Given the description of an element on the screen output the (x, y) to click on. 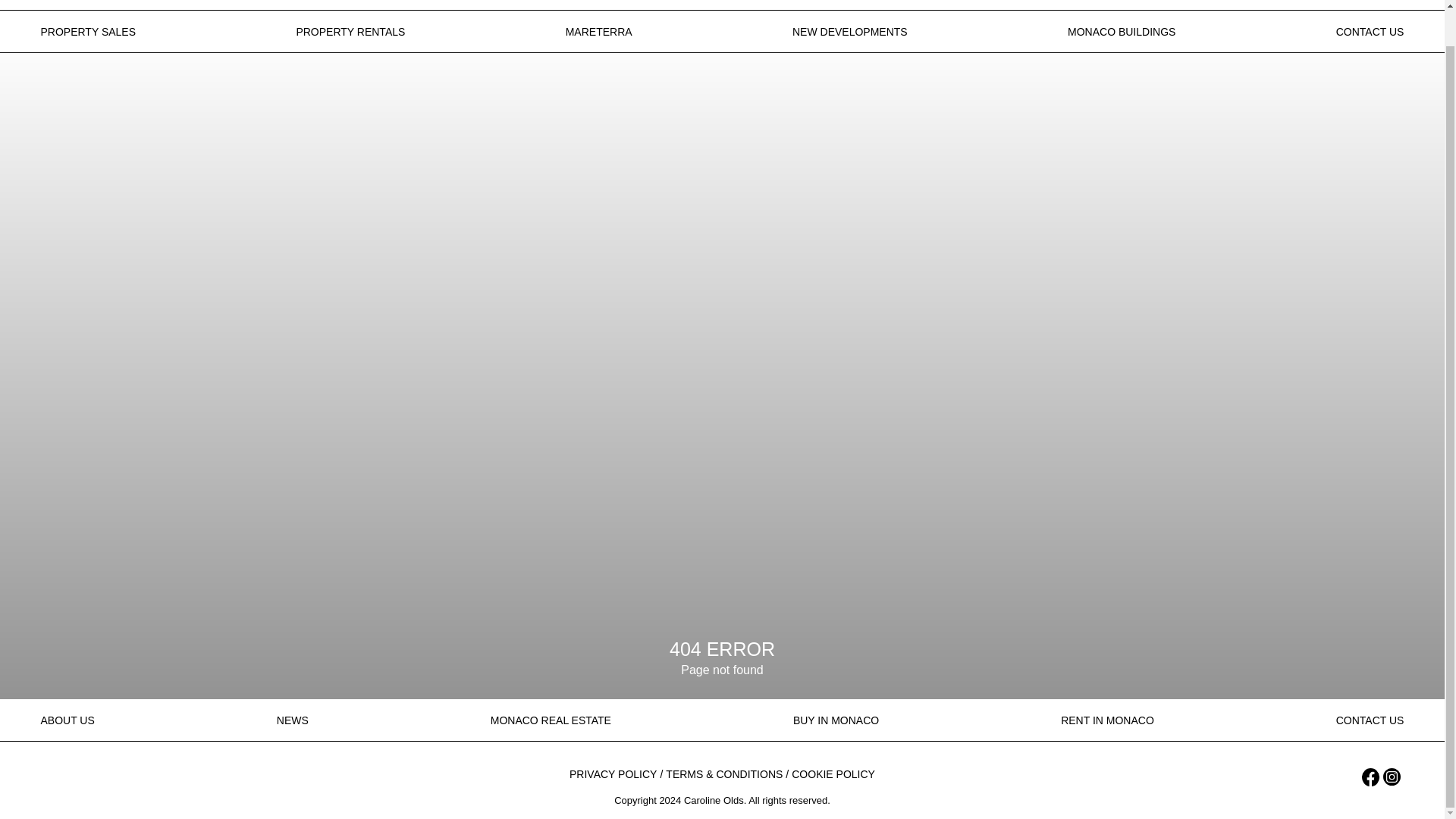
COOKIE POLICY (833, 774)
Submit (592, 457)
RENT IN MONACO (1107, 720)
BUY IN MONACO (836, 720)
MONACO REAL ESTATE (550, 720)
NEWS (292, 720)
NEW DEVELOPMENTS (849, 31)
ABOUT US (67, 720)
PRIVACY POLICY (612, 774)
MONACO BUILDINGS (1120, 31)
CONTACT US (1370, 720)
CONTACT US (1370, 31)
PROPERTY SALES (88, 31)
MARETERRA (598, 31)
PROPERTY RENTALS (349, 31)
